Given the description of an element on the screen output the (x, y) to click on. 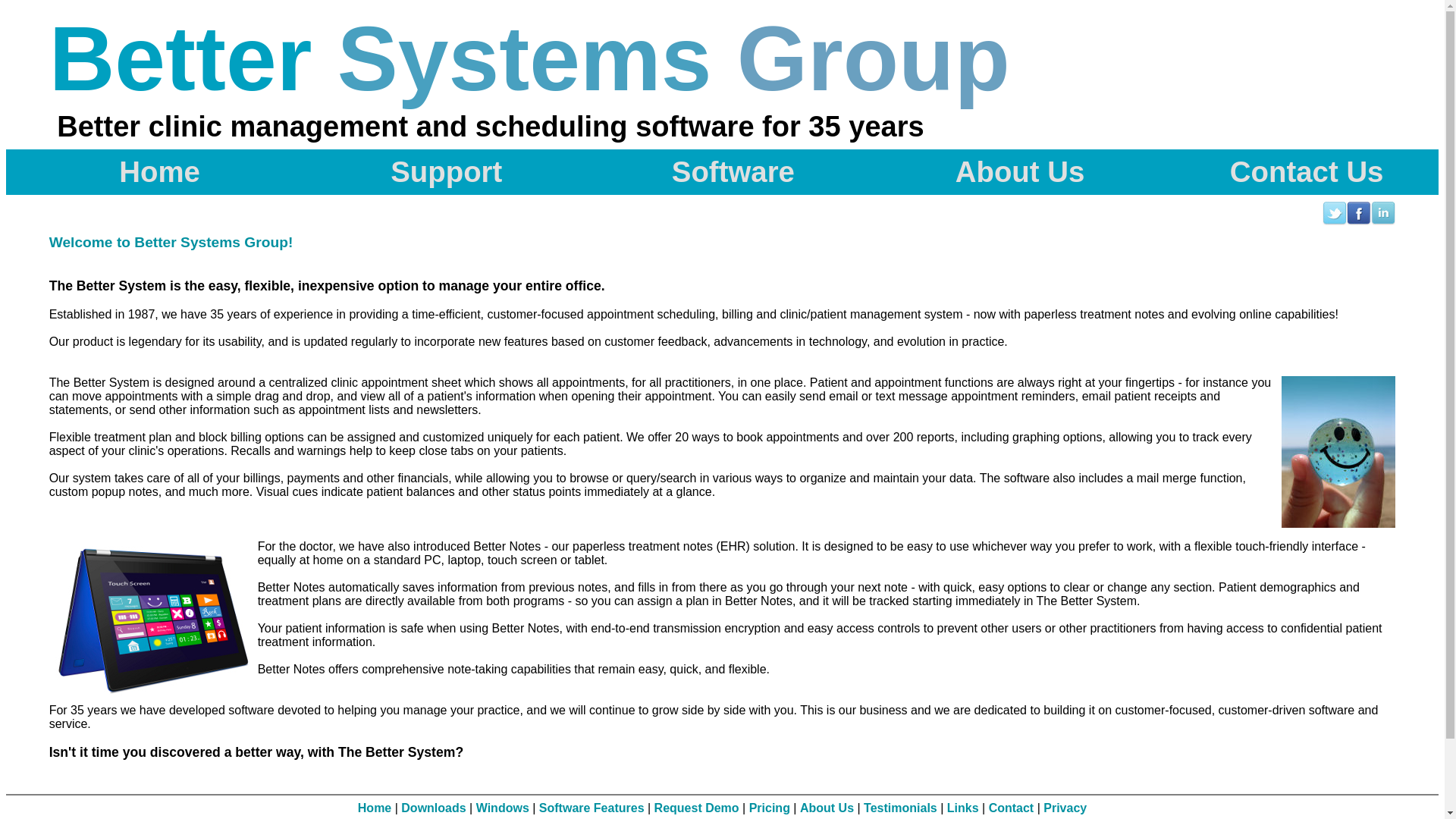
Support Element type: text (435, 171)
About Us Element type: text (826, 807)
Pricing Element type: text (769, 807)
Home Element type: text (374, 807)
Links Element type: text (963, 807)
Contact Element type: text (1011, 807)
Request Demo Element type: text (696, 807)
Software Features Element type: text (591, 807)
About Us Element type: text (1008, 171)
Contact Us Element type: text (1295, 171)
Software Element type: text (722, 171)
Privacy Element type: text (1064, 807)
Downloads Element type: text (433, 807)
Home Element type: text (148, 171)
Testimonials Element type: text (900, 807)
Windows Element type: text (502, 807)
